Given the description of an element on the screen output the (x, y) to click on. 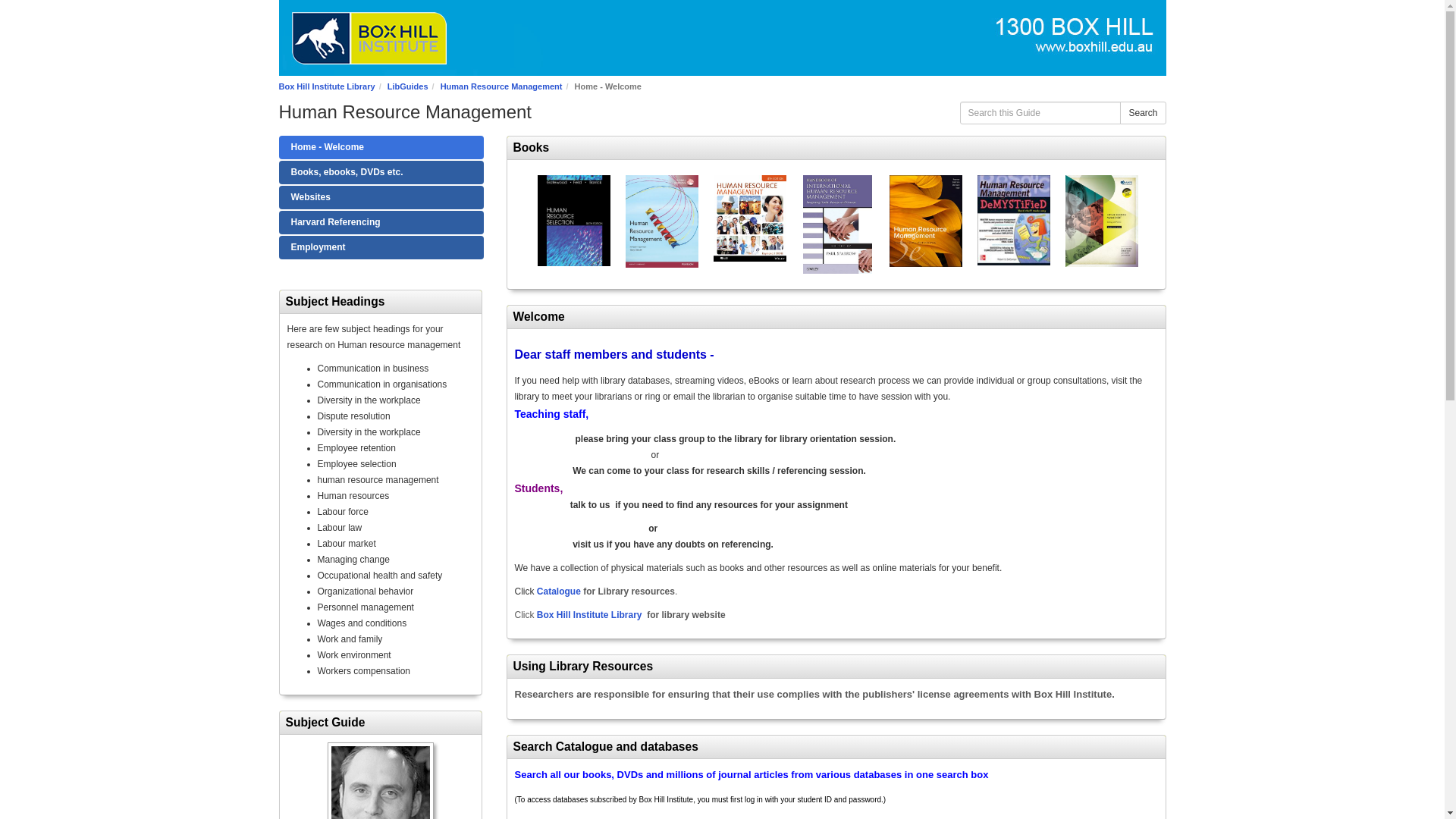
Harvard Referencing (381, 222)
Websites (381, 197)
Previous (518, 224)
Employment (381, 247)
Box Hill Institute Library (327, 85)
Human Resource Management (501, 85)
Simon Stockdale (379, 780)
Books, ebooks, DVDs etc. (381, 172)
Search (1142, 112)
Home - Welcome (381, 146)
LibGuides (407, 85)
